Given the description of an element on the screen output the (x, y) to click on. 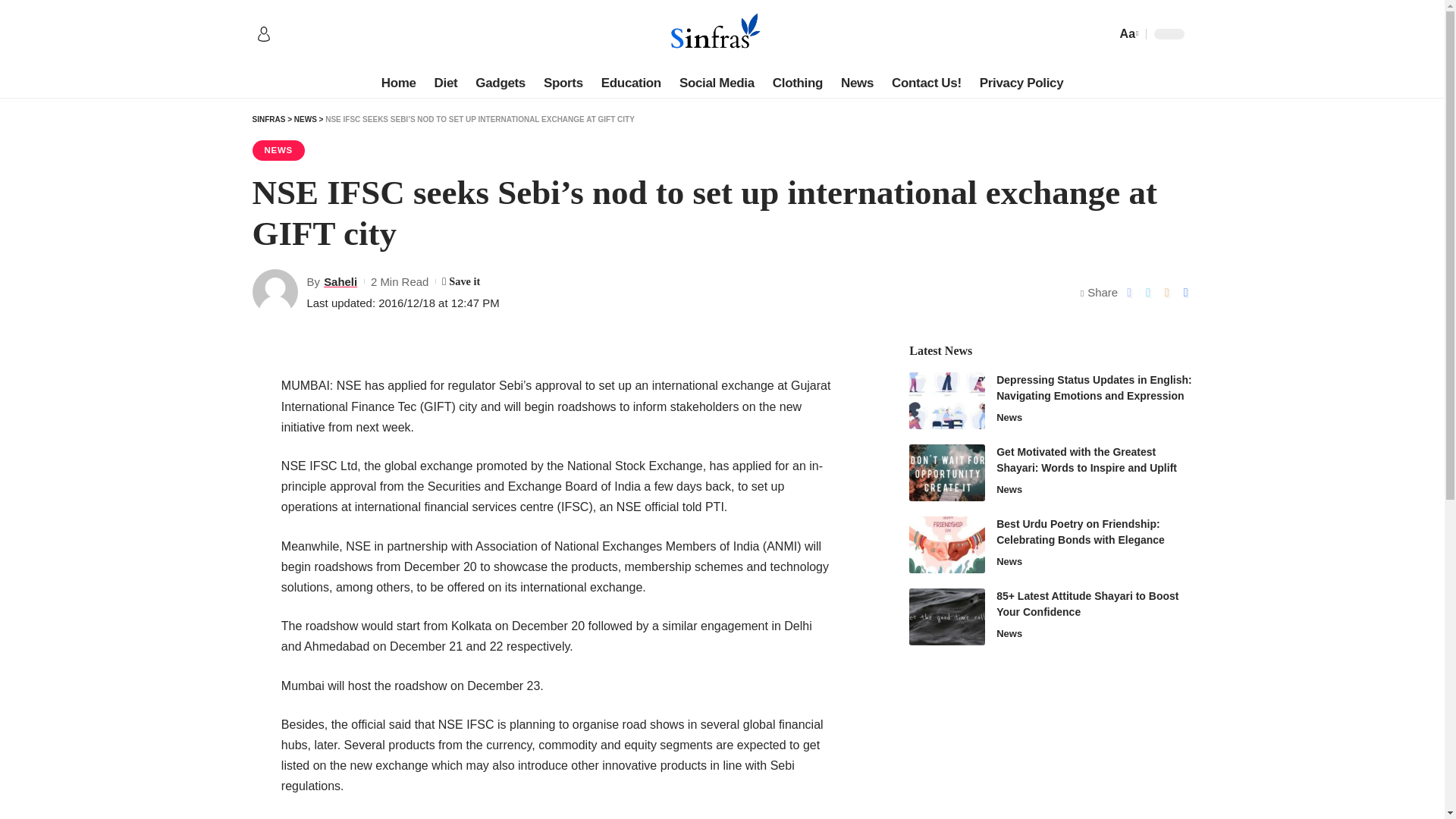
Education (630, 82)
Home (398, 82)
Go to Sinfras. (268, 119)
Privacy Policy (1022, 82)
Diet (446, 82)
NEWS (305, 119)
NEWS (277, 150)
Contact Us! (926, 82)
Gadgets (499, 82)
Sinfras (721, 33)
News (856, 82)
Aa (1127, 33)
Go to the News Category archives. (305, 119)
